Given the description of an element on the screen output the (x, y) to click on. 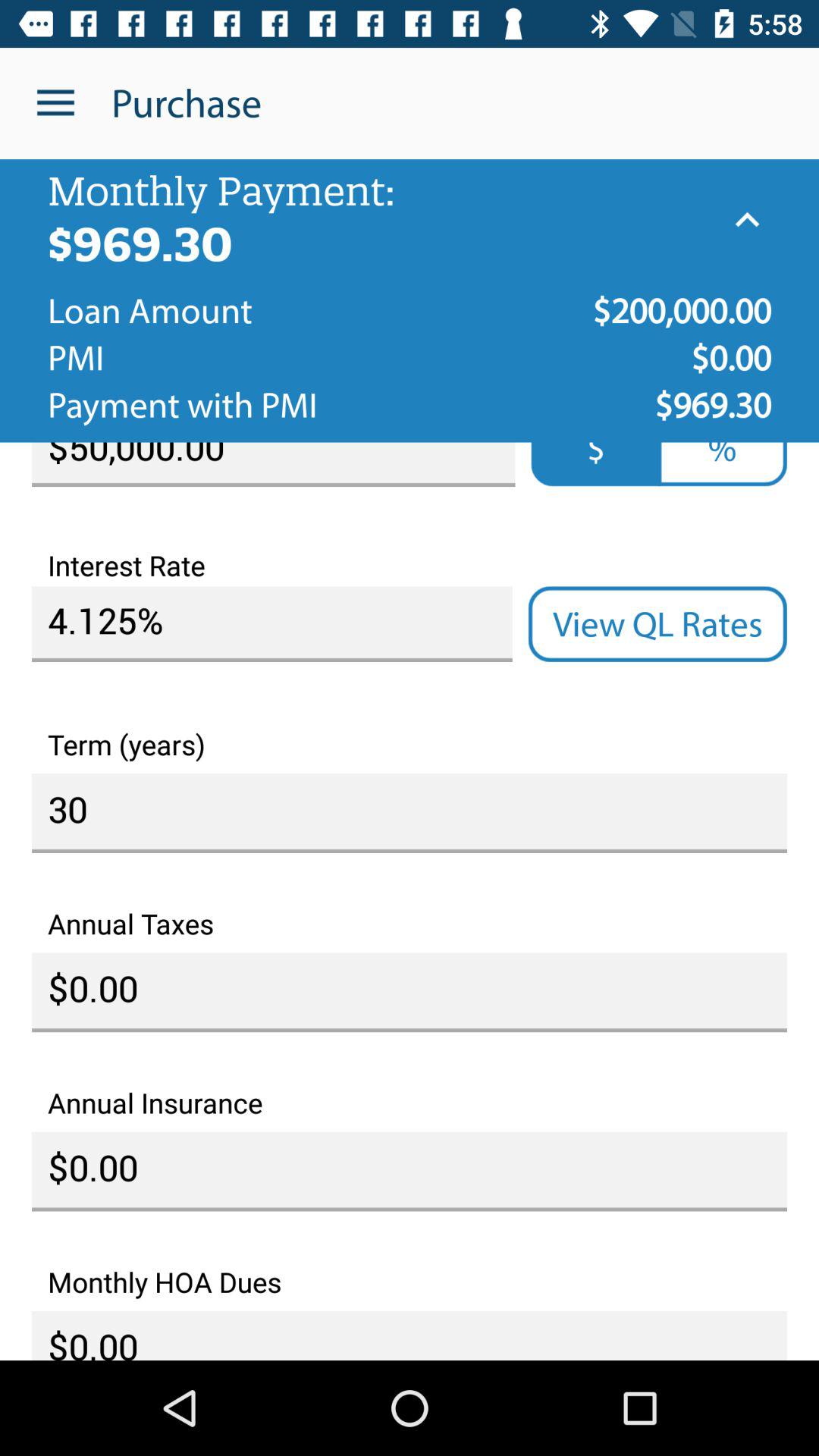
select the icon above term (years) (271, 624)
